Given the description of an element on the screen output the (x, y) to click on. 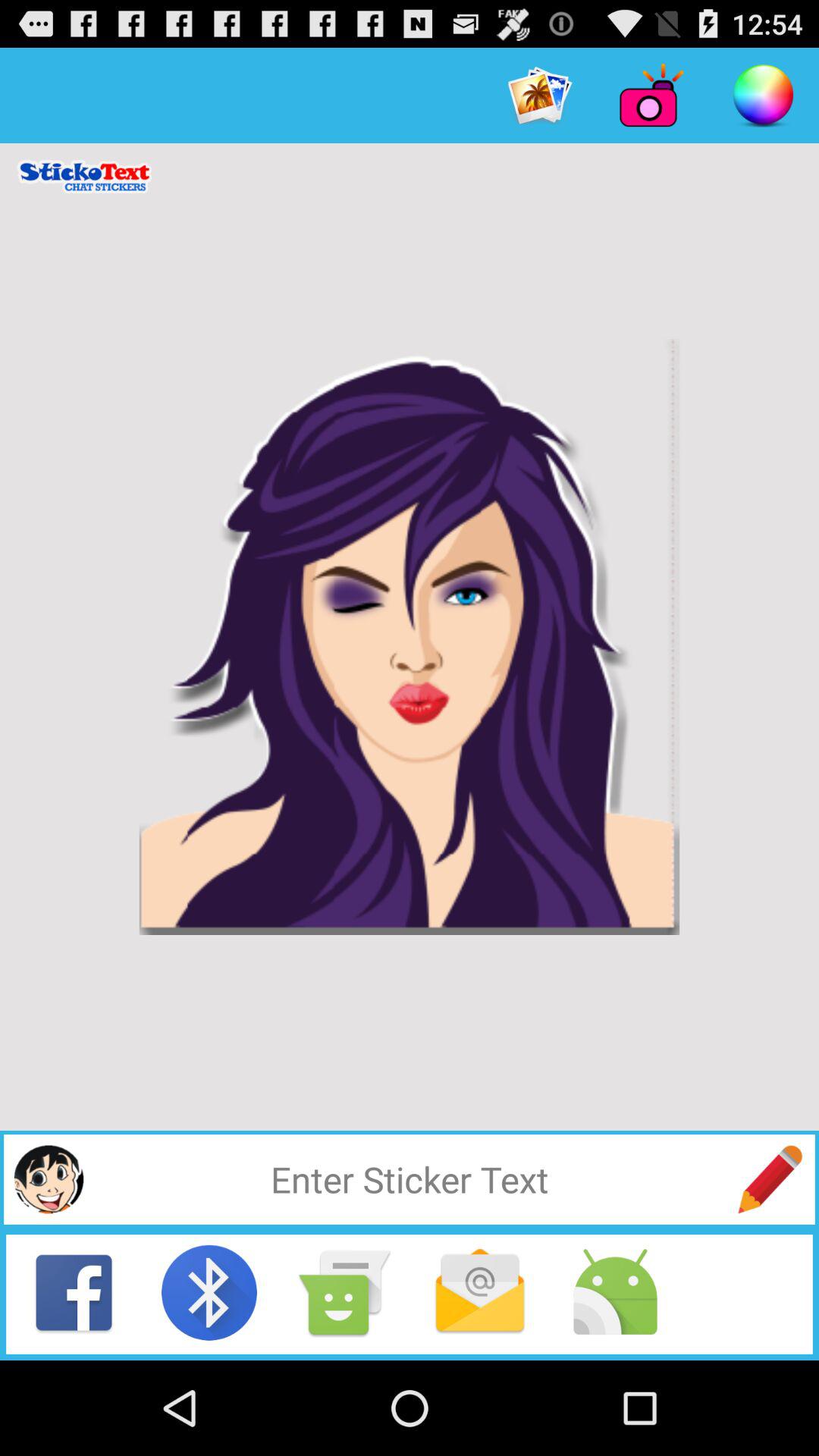
profile (48, 1179)
